Given the description of an element on the screen output the (x, y) to click on. 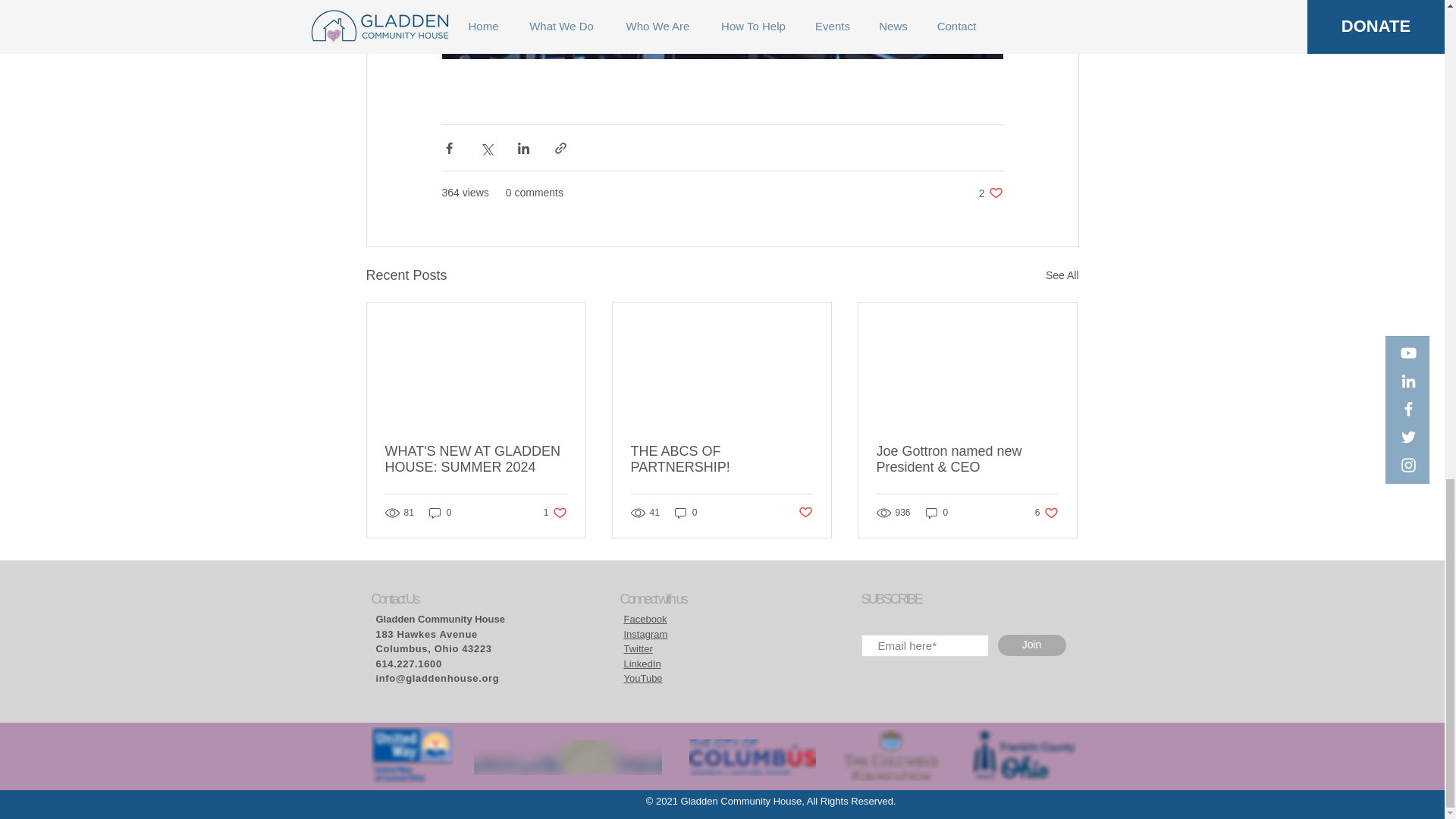
0 (990, 192)
WHAT'S NEW AT GLADDEN HOUSE: SUMMER 2024 (440, 512)
See All (555, 512)
THE ABCS OF PARTNERSHIP! (476, 459)
